Given the description of an element on the screen output the (x, y) to click on. 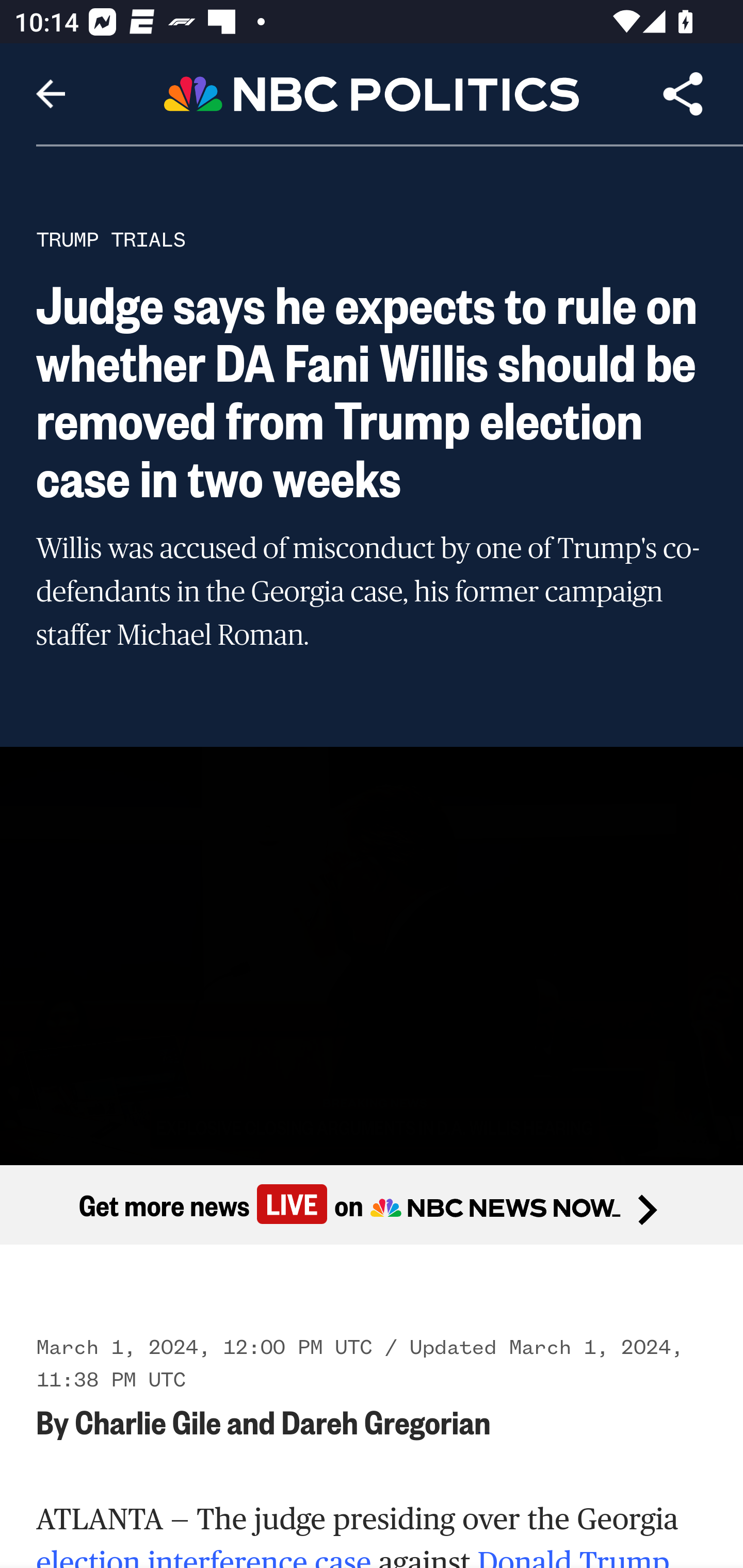
Navigate up (50, 93)
Share Article, button (683, 94)
Header, NBC Politics (371, 93)
TRUMP TRIALS (110, 239)
Get more news Live on Get more news Live on (371, 1203)
Dareh Gregorian (385, 1421)
